Given the description of an element on the screen output the (x, y) to click on. 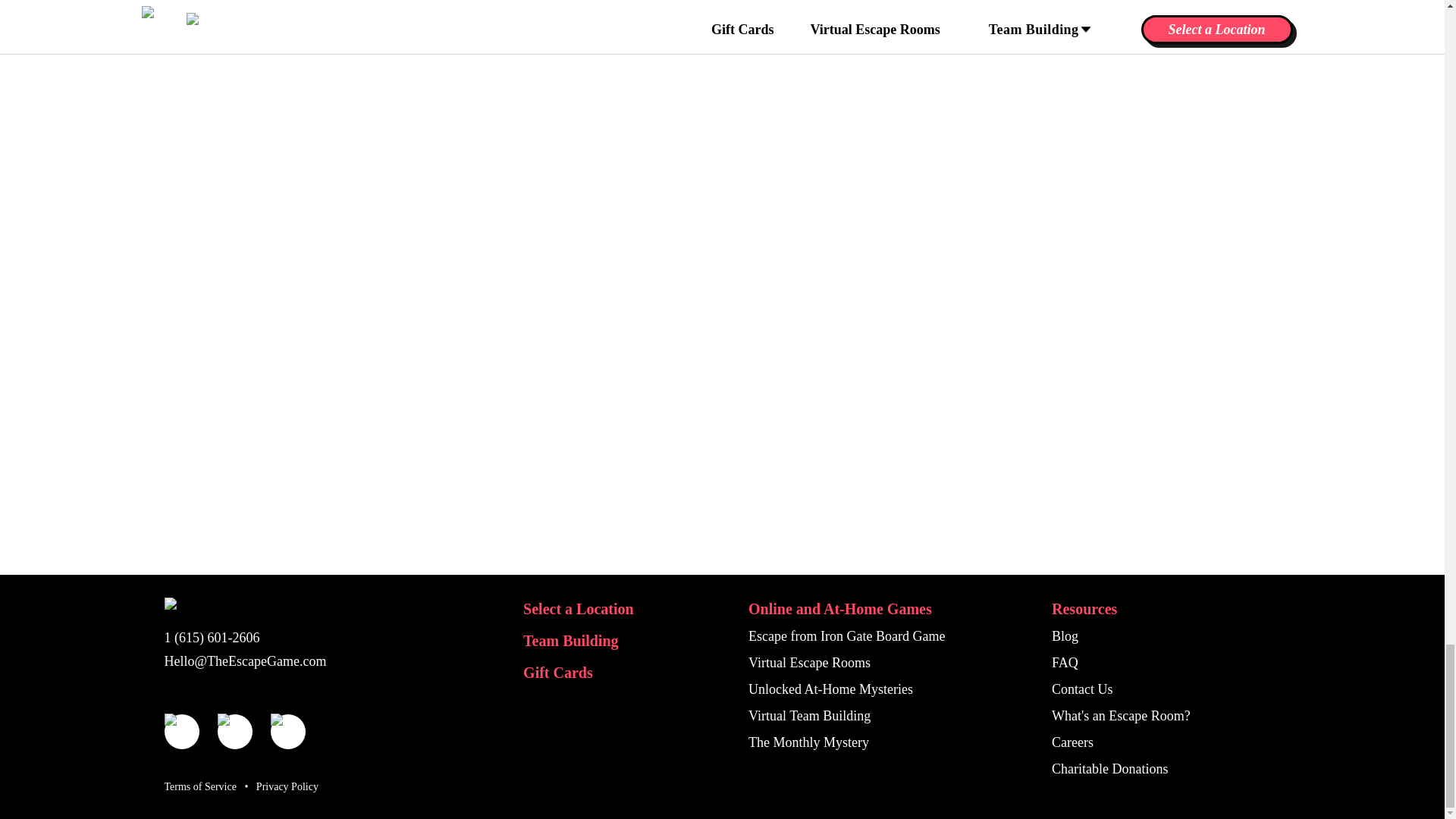
Contact Us (1082, 688)
Unlocked At-Home Mysteries (830, 688)
Virtual Escape Rooms (809, 662)
YouTube Logo (233, 731)
What's an Escape Room? (1121, 715)
Terms of Service (199, 786)
Escape from Iron Gate Board Game (846, 635)
FAQ (1064, 662)
Instagram Logo (180, 731)
Select a Location (577, 608)
